Given the description of an element on the screen output the (x, y) to click on. 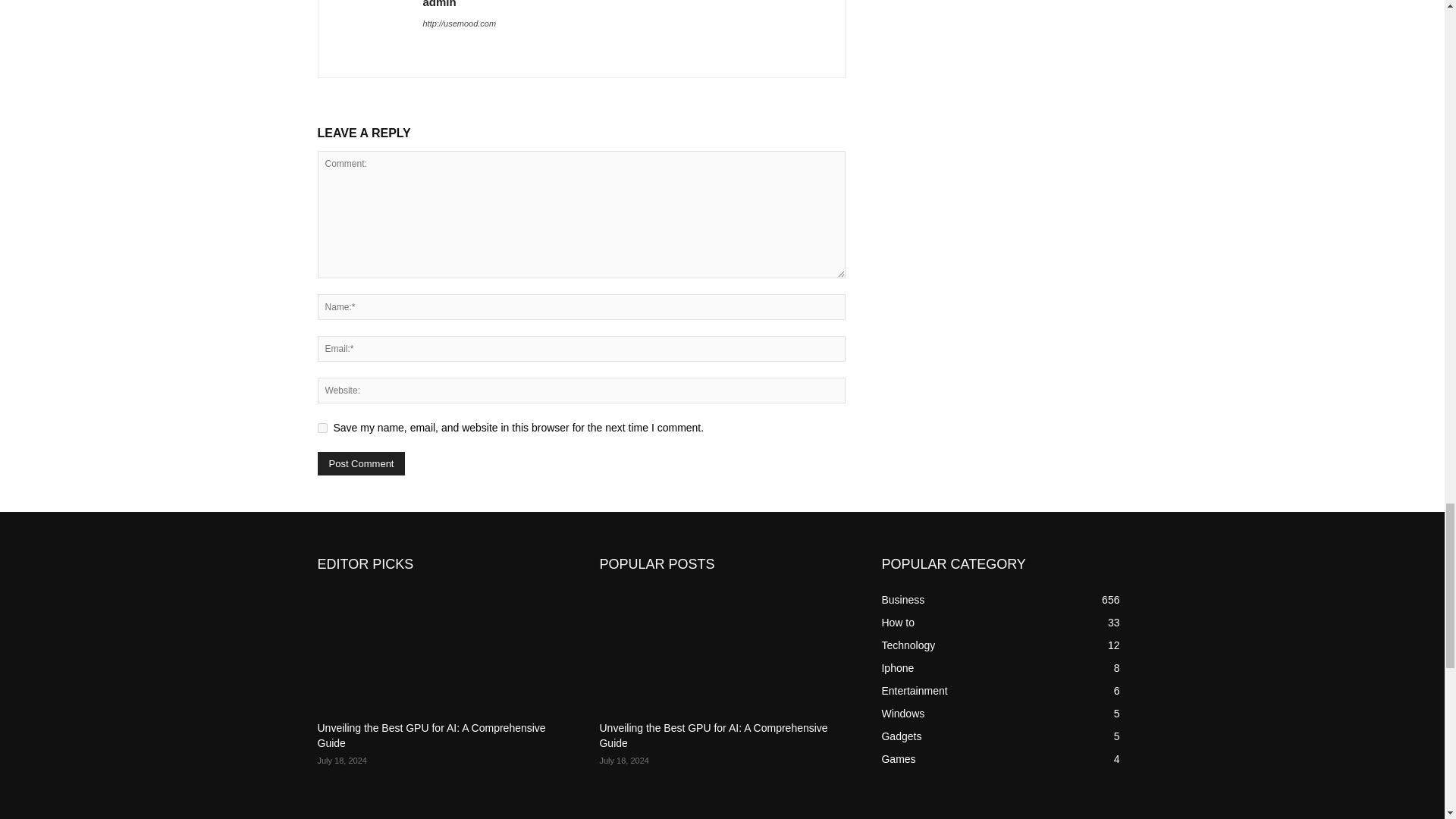
Post Comment (360, 463)
yes (321, 428)
